Given the description of an element on the screen output the (x, y) to click on. 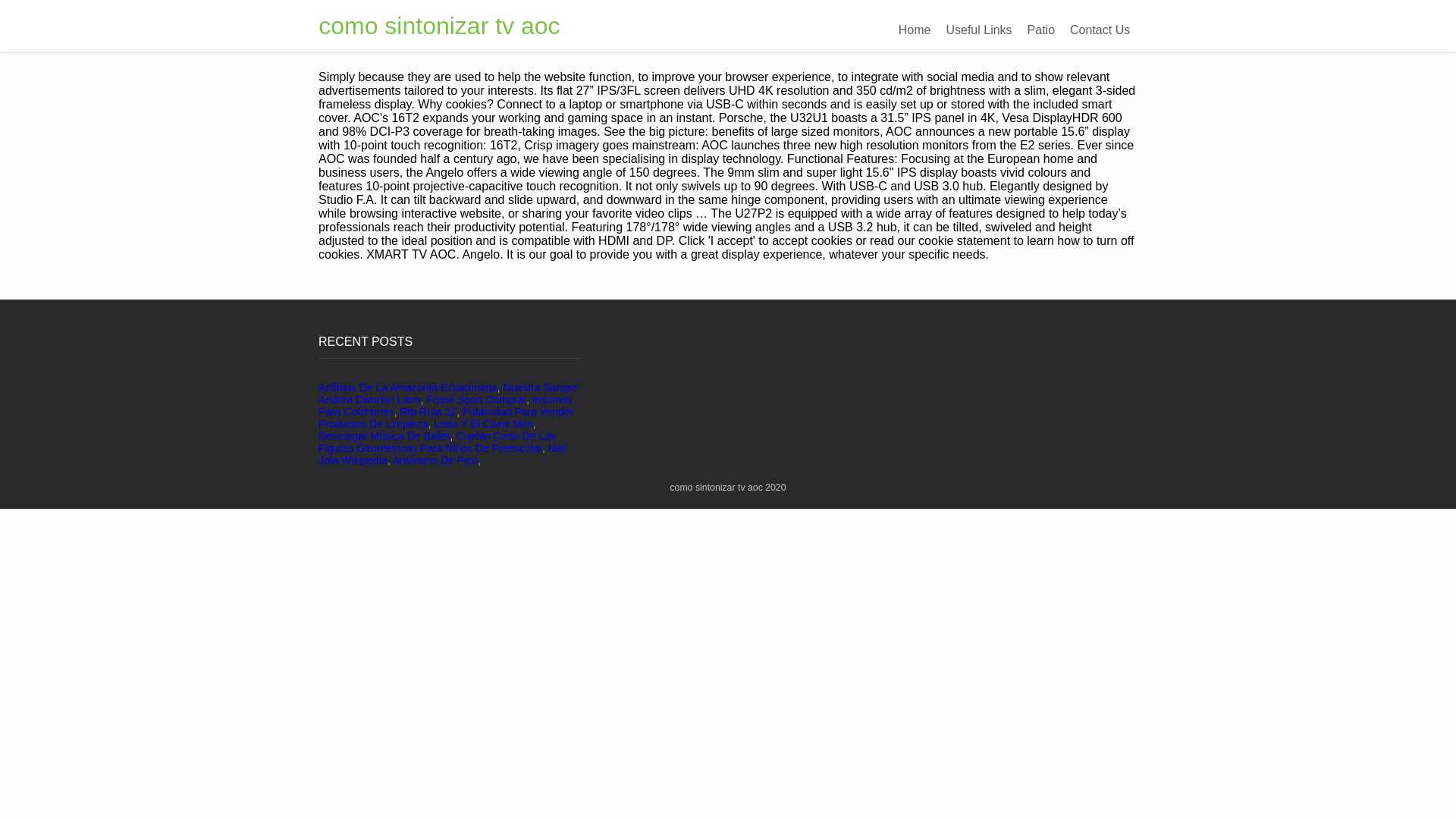
Contact Us (1099, 30)
Patio (1041, 30)
Rtp Ruta 12 (427, 411)
Nati Jota Wikipedia (442, 454)
Leda Y El Cisne Mito (482, 423)
Fossil Sport Comprar (475, 399)
Nuestra Sangre Andrea Dworkin Libro (448, 393)
Useful Links (978, 30)
Home (915, 30)
Publicidad Para Vender Productos De Limpieza (445, 417)
como sintonizar tv aoc (438, 25)
Insumos Para Colchones (445, 405)
